Given the description of an element on the screen output the (x, y) to click on. 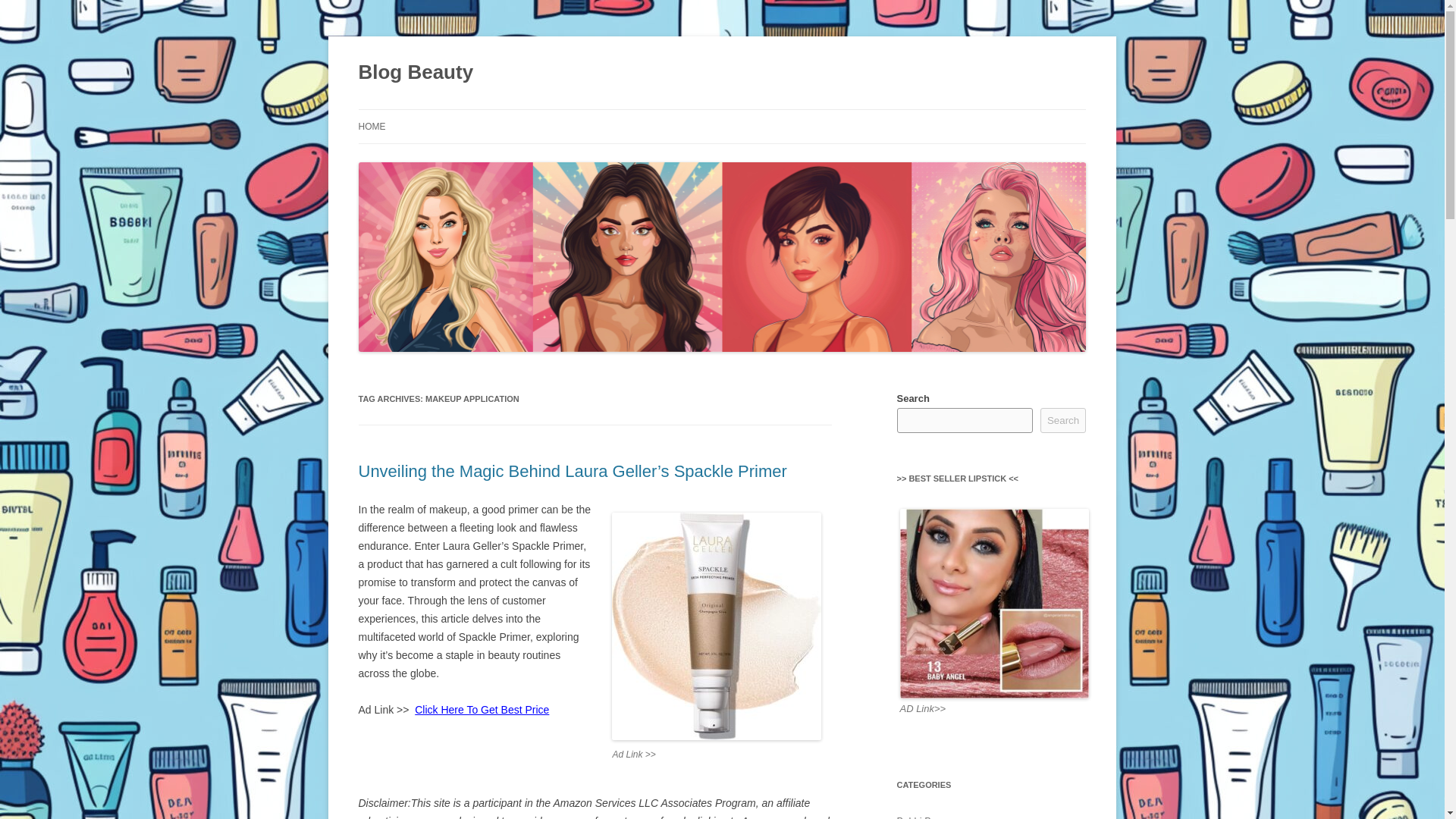
Blog Beauty (415, 72)
Click Here To Get Best Price (481, 709)
Search (1063, 420)
Bobbi Brown (924, 816)
